Given the description of an element on the screen output the (x, y) to click on. 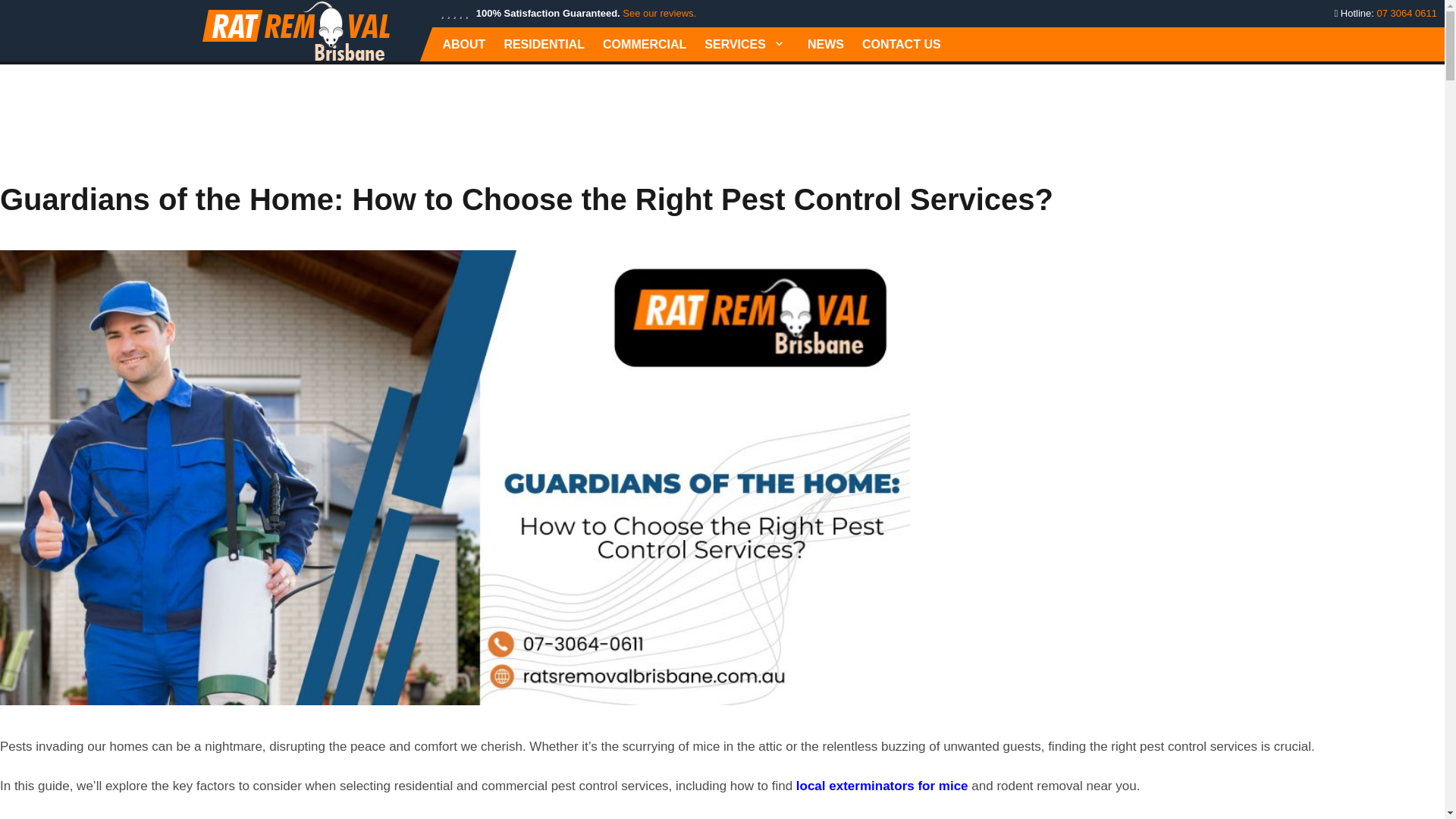
See our reviews. (659, 12)
ABOUT (463, 44)
CONTACT US (901, 44)
NEWS (825, 44)
SERVICES (746, 44)
07 3064 0611 (1406, 12)
COMMERCIAL (644, 44)
local exterminators for mice (882, 785)
RESIDENTIAL (543, 44)
